Given the description of an element on the screen output the (x, y) to click on. 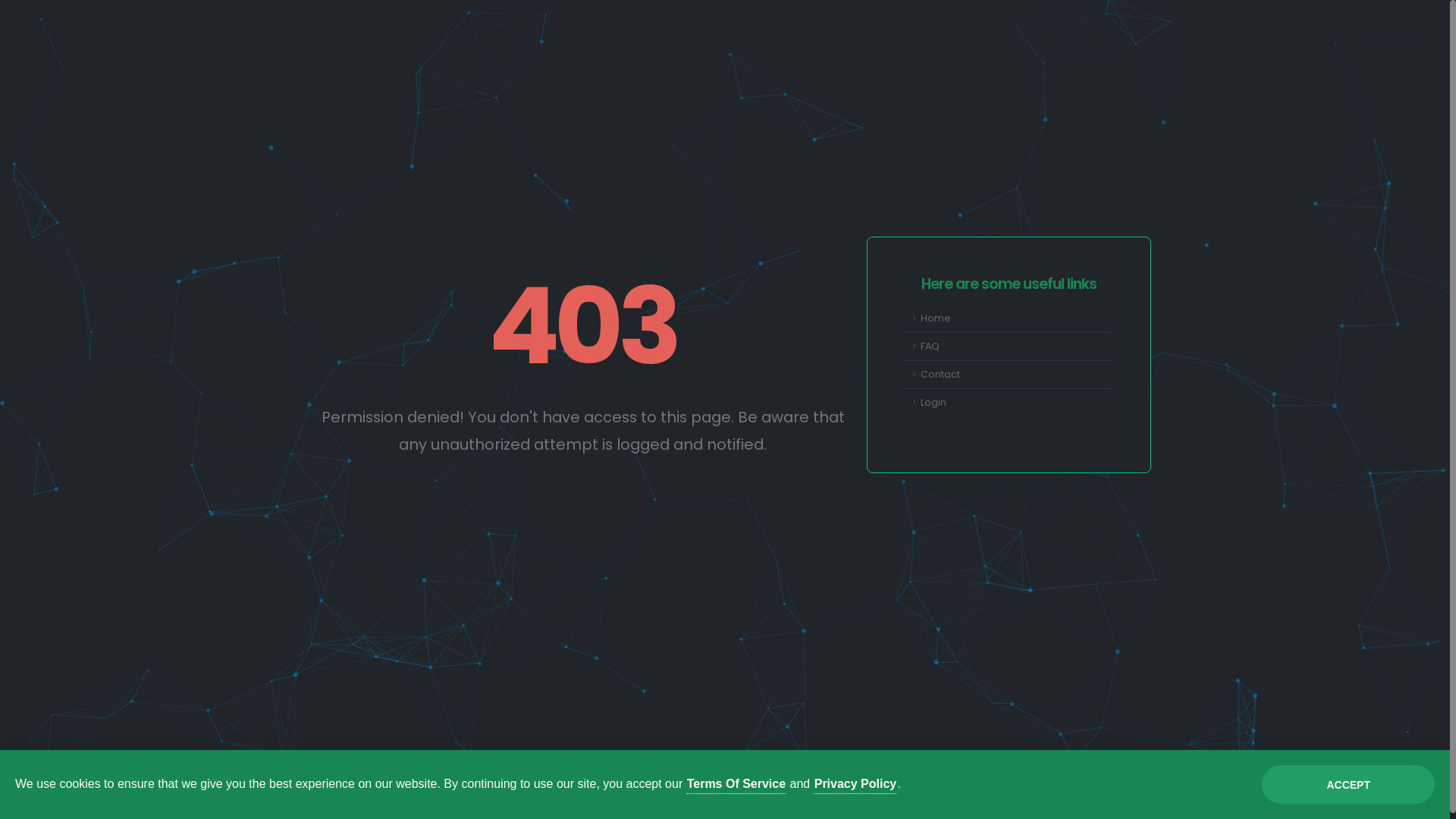
ACCEPT Element type: text (1347, 784)
FAQ Element type: text (1008, 346)
Home Element type: text (1008, 318)
Privacy Policy Element type: text (855, 784)
Login Element type: text (1008, 402)
Contact Element type: text (1008, 374)
Terms Of Service Element type: text (736, 784)
